Given the description of an element on the screen output the (x, y) to click on. 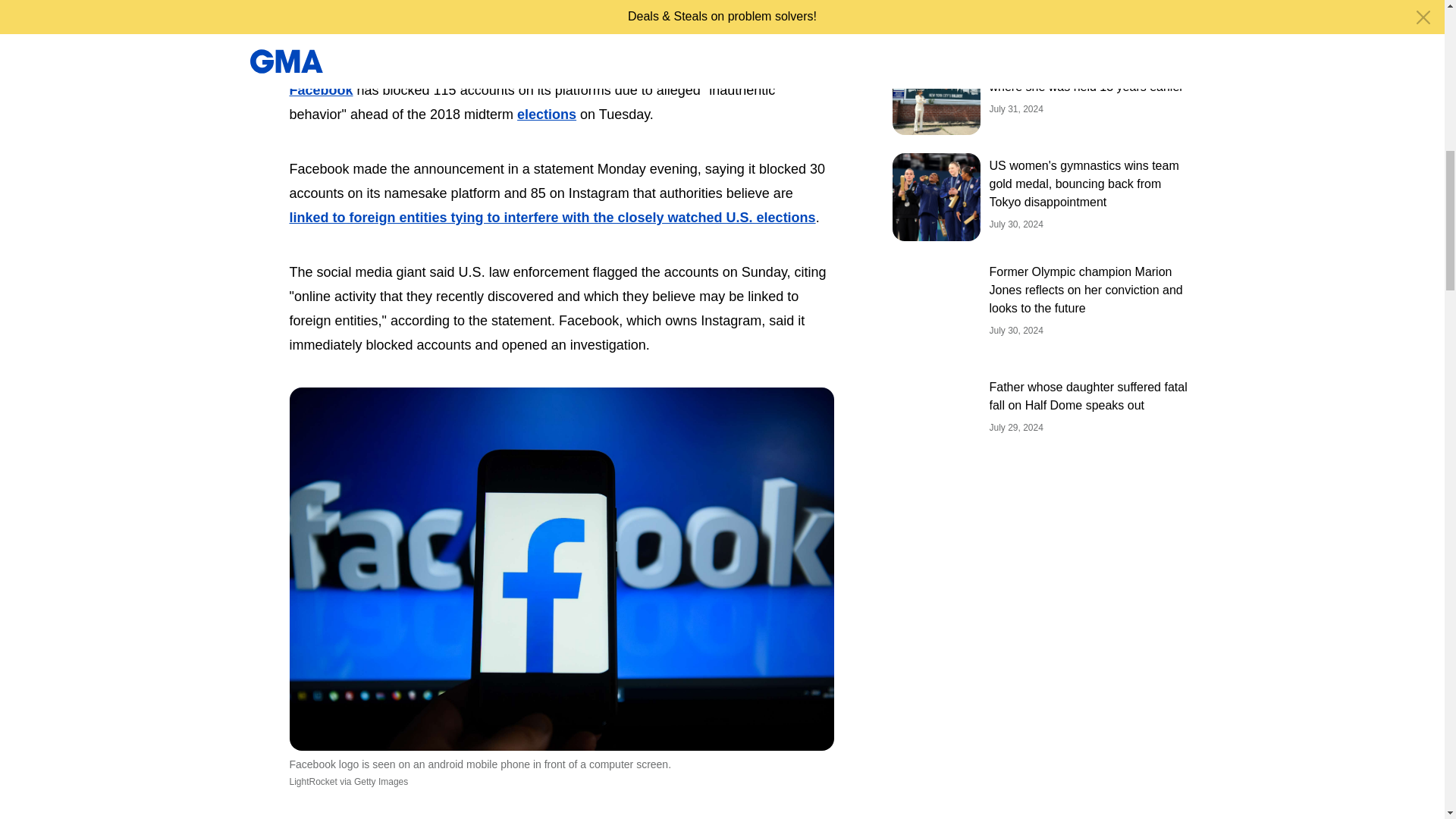
Karma Allen (335, 13)
elections (546, 114)
Facebook (321, 89)
